Given the description of an element on the screen output the (x, y) to click on. 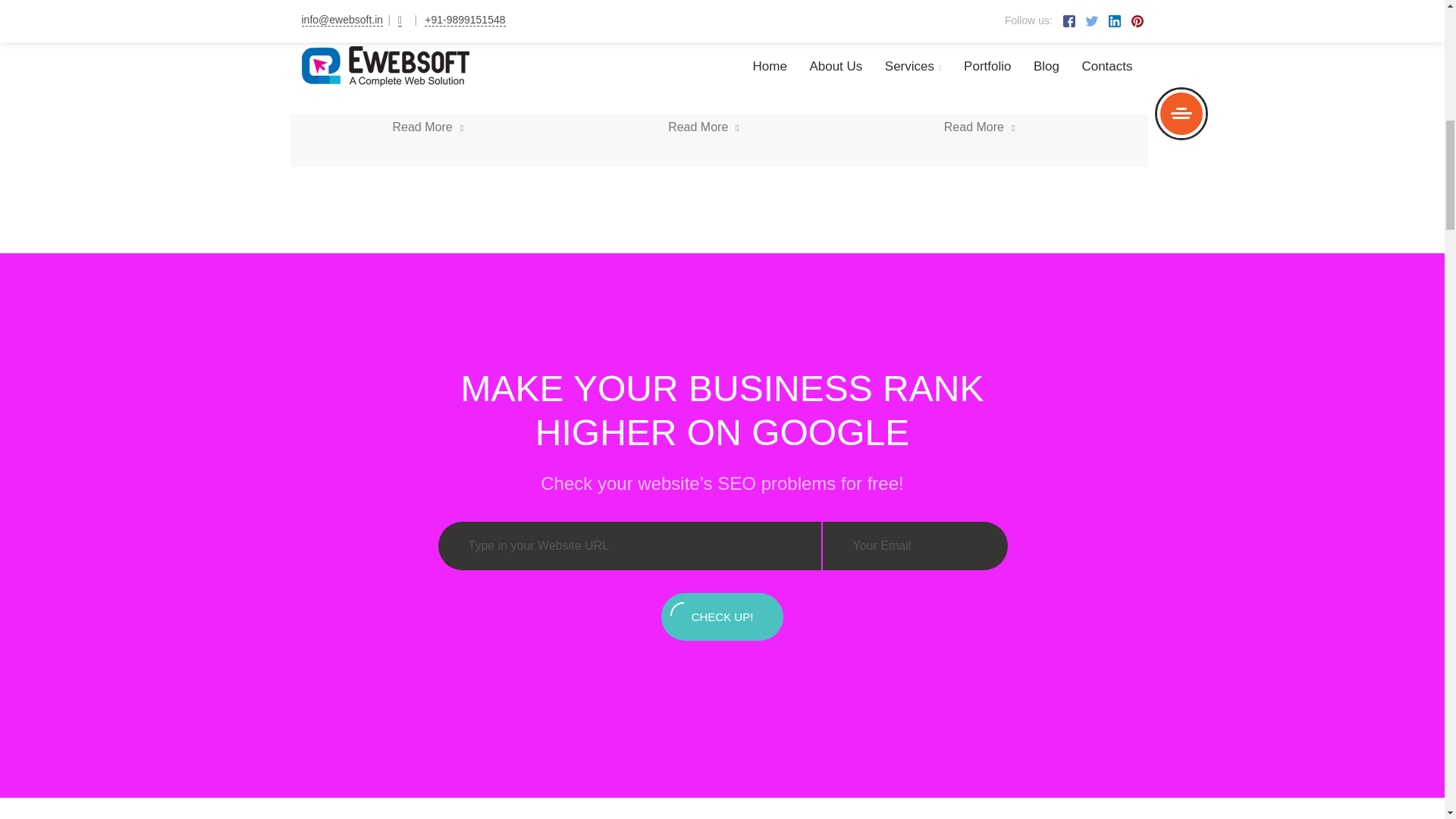
Read More (756, 126)
Read More (481, 126)
Read More (438, 30)
Read More (732, 30)
Read More (1032, 126)
Read More (481, 6)
Read More (1011, 30)
Read More (756, 6)
